Given the description of an element on the screen output the (x, y) to click on. 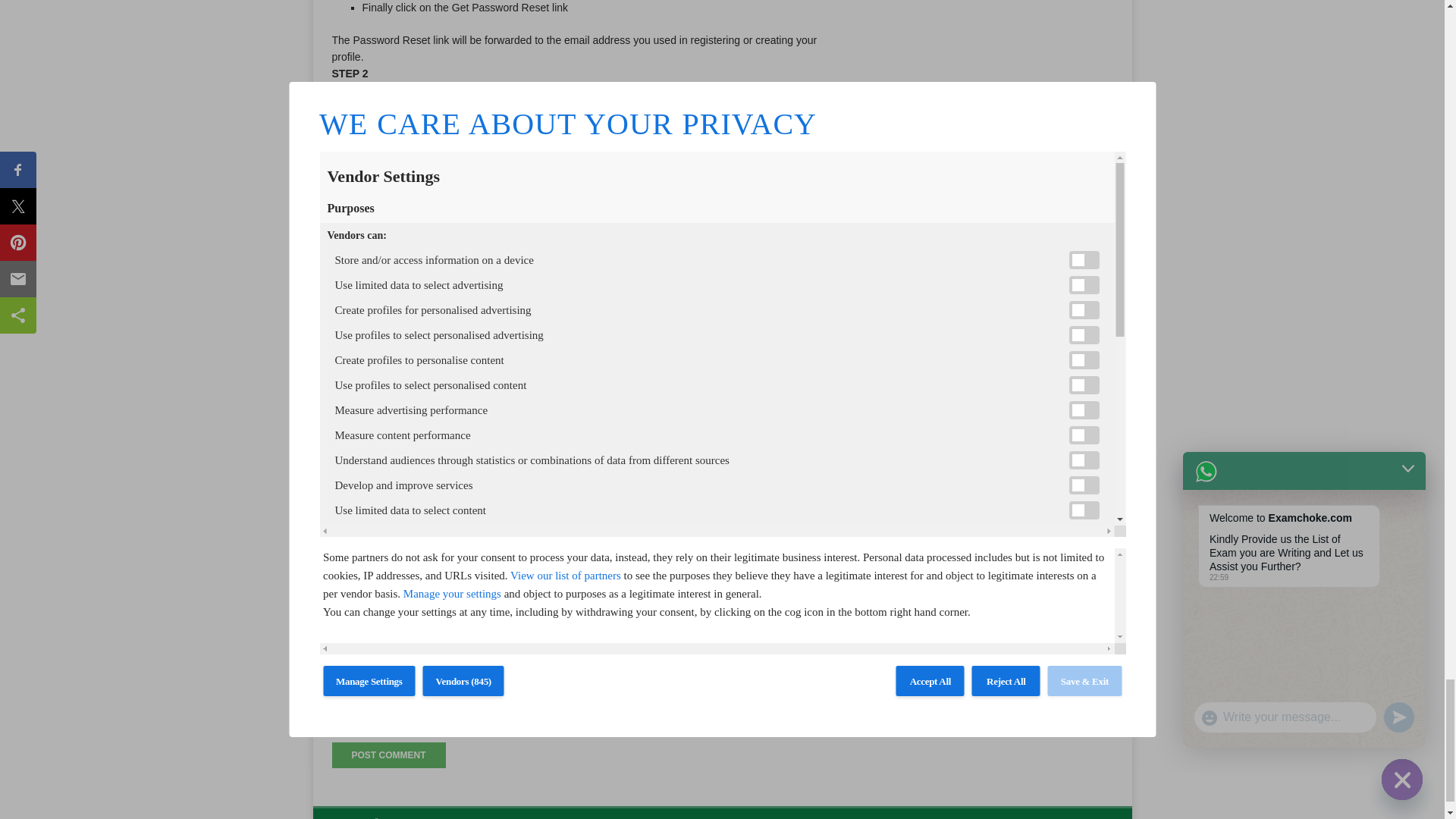
yes (339, 715)
Post Comment (388, 755)
